Given the description of an element on the screen output the (x, y) to click on. 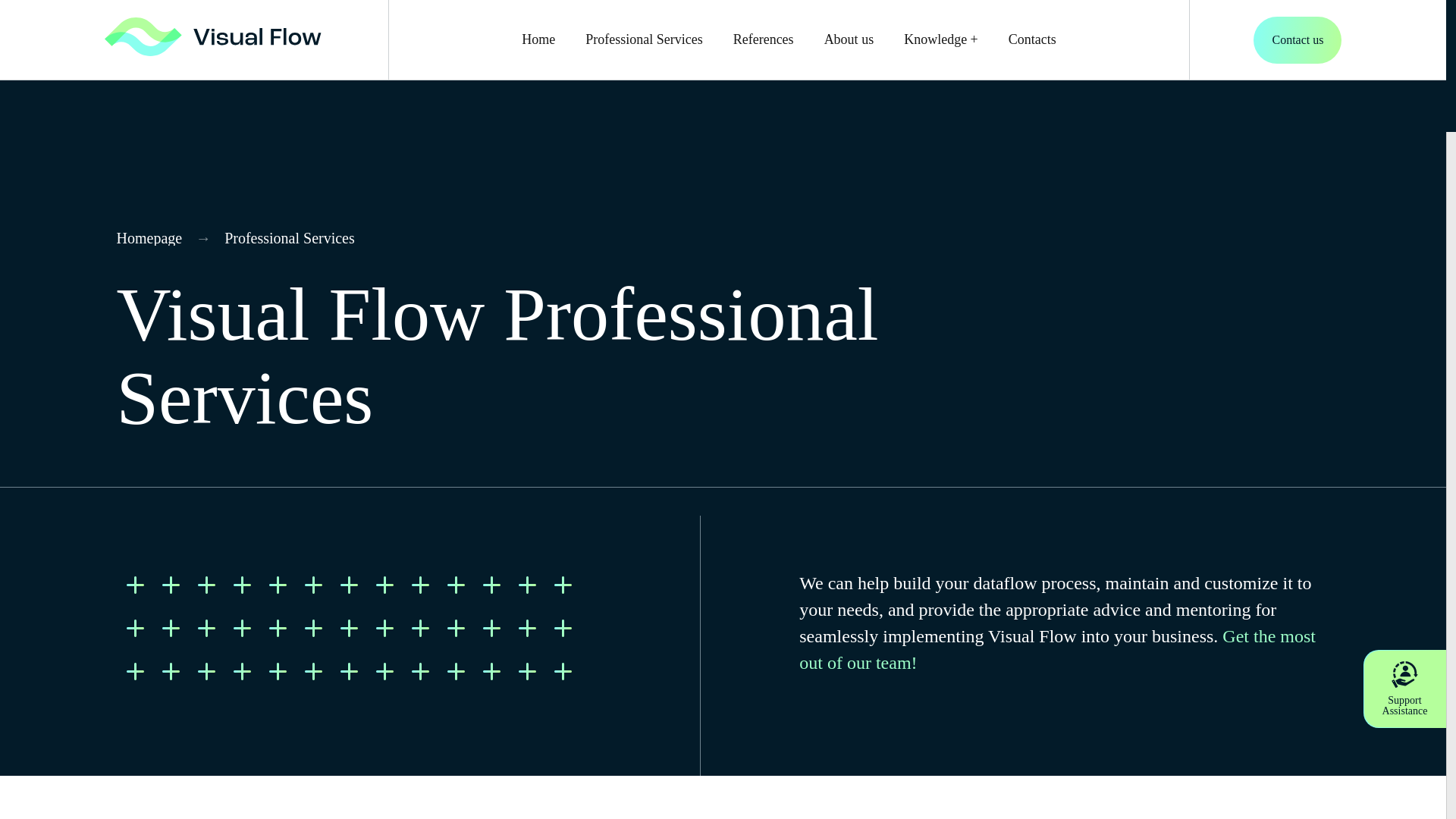
Contacts (1033, 39)
Contact us (1296, 39)
Professional Services (643, 39)
Homepage (156, 238)
About us (849, 39)
Go to Visual Flow. (156, 238)
References (763, 39)
